Given the description of an element on the screen output the (x, y) to click on. 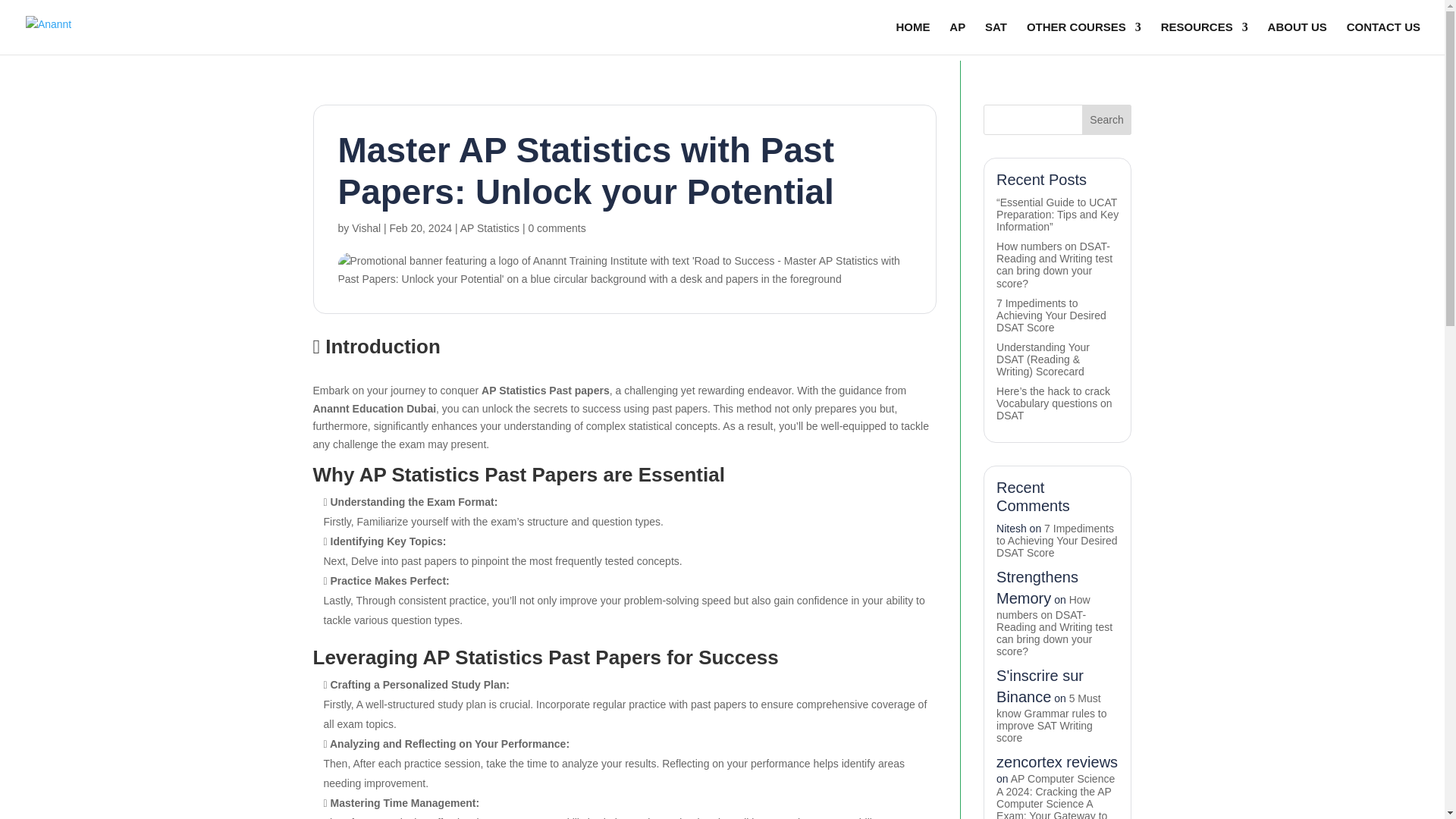
Strengthens Memory (1036, 587)
Search (1106, 119)
7 Impediments to Achieving Your Desired DSAT Score (1050, 315)
OTHER COURSES (1083, 38)
CONTACT US (1383, 38)
AP Statistics (489, 227)
ABOUT US (1297, 38)
Posts by Vishal (366, 227)
S'inscrire sur Binance (1039, 686)
7 Impediments to Achieving Your Desired DSAT Score (1056, 539)
RESOURCES (1203, 38)
Search (1106, 119)
HOME (912, 38)
